Given the description of an element on the screen output the (x, y) to click on. 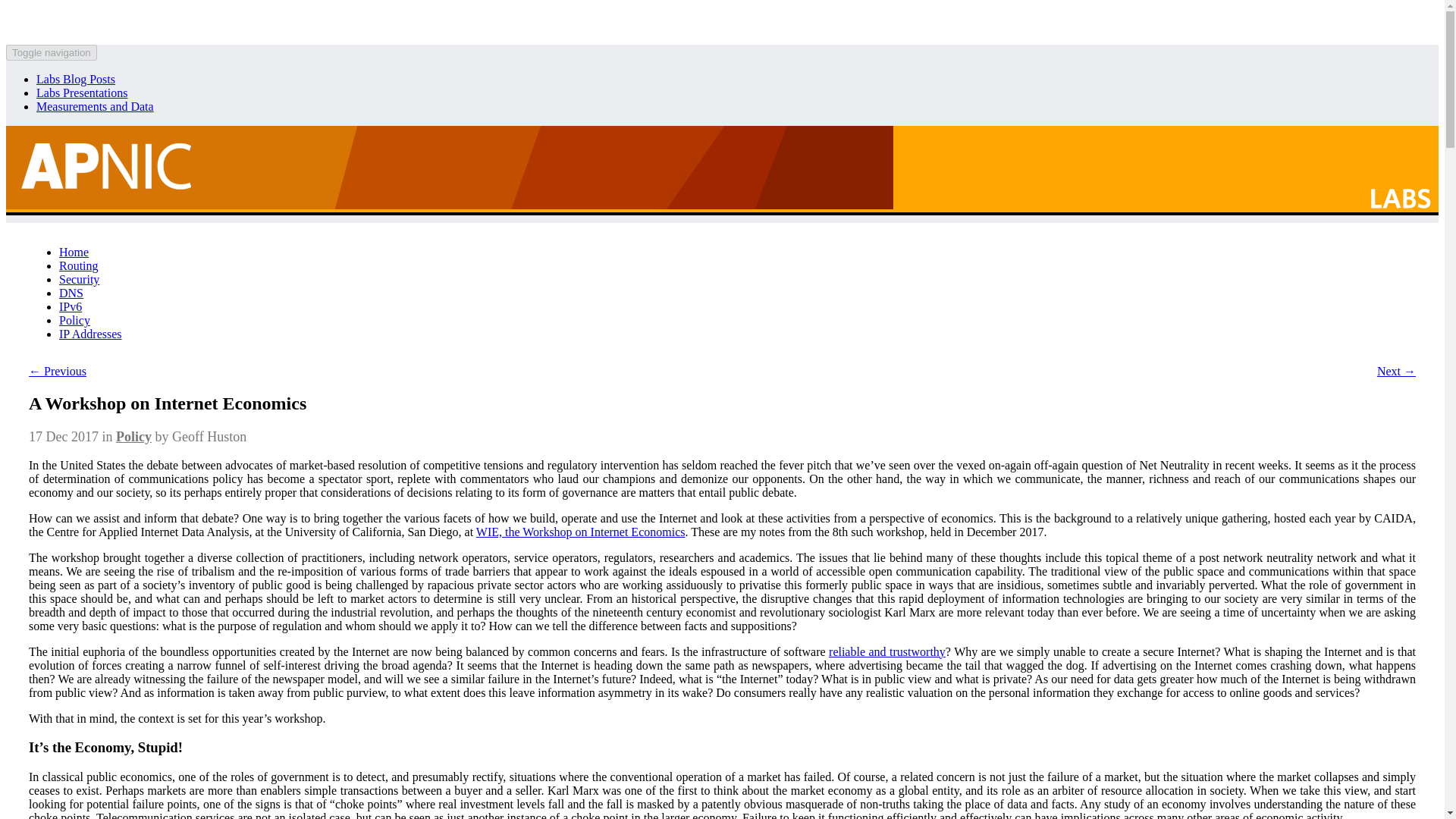
Policy (133, 436)
Home (73, 251)
Measurements and Data (95, 106)
Labs Blog Posts (75, 78)
IP Addresses (90, 333)
Toggle navigation (51, 52)
Policy (74, 319)
reliable and trustworthy (886, 651)
Routing (79, 265)
WIE, the Workshop on Internet Economics (580, 531)
Security (79, 278)
IPv6 (70, 306)
Labs Presentations (82, 92)
DNS (70, 292)
